Given the description of an element on the screen output the (x, y) to click on. 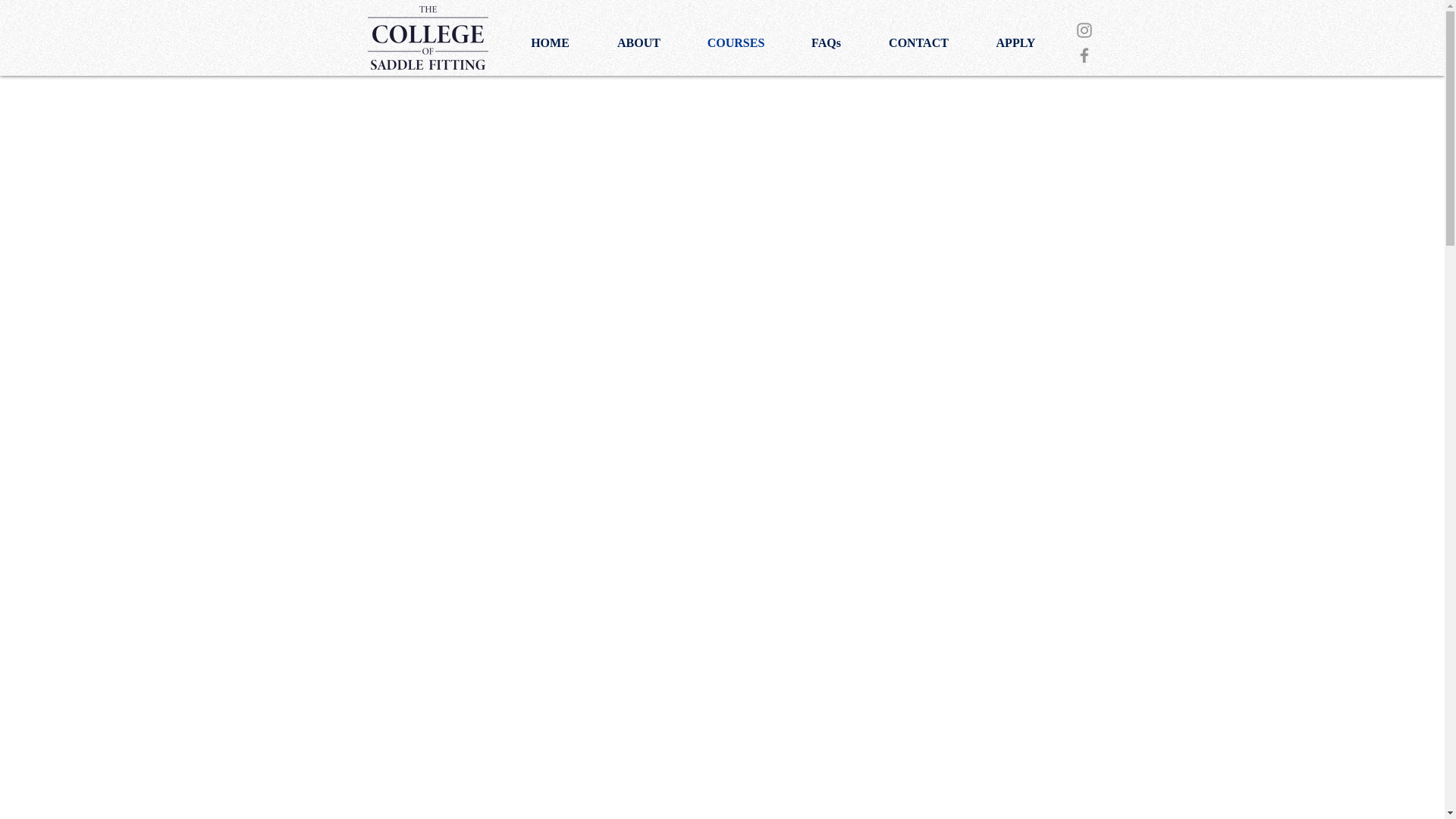
CONTACT (918, 43)
APPLY (1015, 43)
HOME (549, 43)
COURSES (735, 43)
ABOUT (638, 43)
FAQs (825, 43)
